Given the description of an element on the screen output the (x, y) to click on. 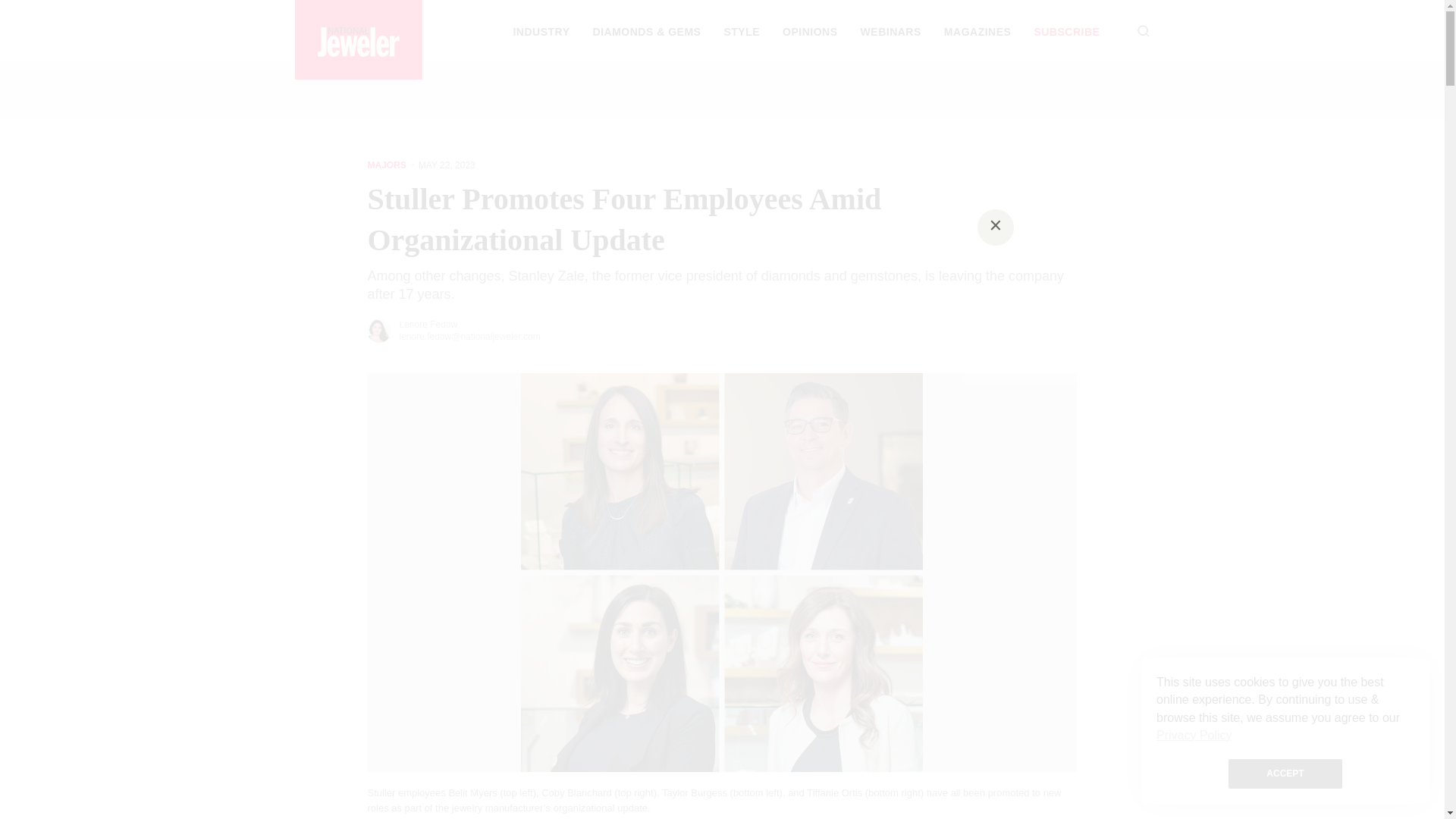
WEBINARS (890, 31)
SUBSCRIBE (1066, 31)
MAGAZINES (977, 31)
INDUSTRY (540, 31)
STYLE (741, 31)
OPINIONS (810, 31)
